Given the description of an element on the screen output the (x, y) to click on. 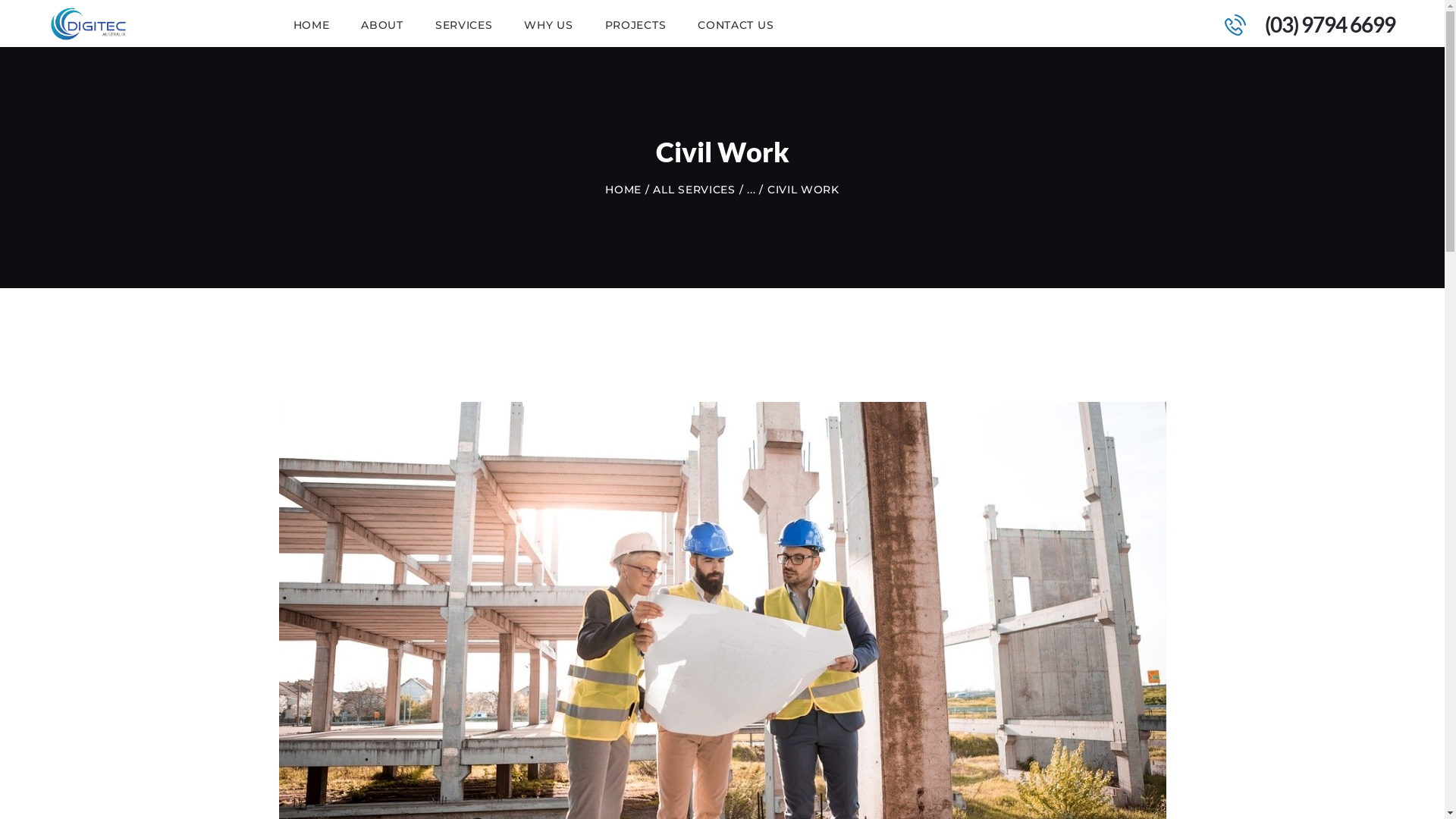
(03) 9794 6699 Element type: text (1300, 24)
ALL SERVICES Element type: text (693, 189)
CONTACT US Element type: text (735, 23)
PROJECTS Element type: text (635, 23)
HOME Element type: text (623, 189)
SERVICES Element type: text (463, 23)
HOME Element type: text (311, 23)
WHY US Element type: text (548, 23)
ABOUT Element type: text (382, 23)
